Given the description of an element on the screen output the (x, y) to click on. 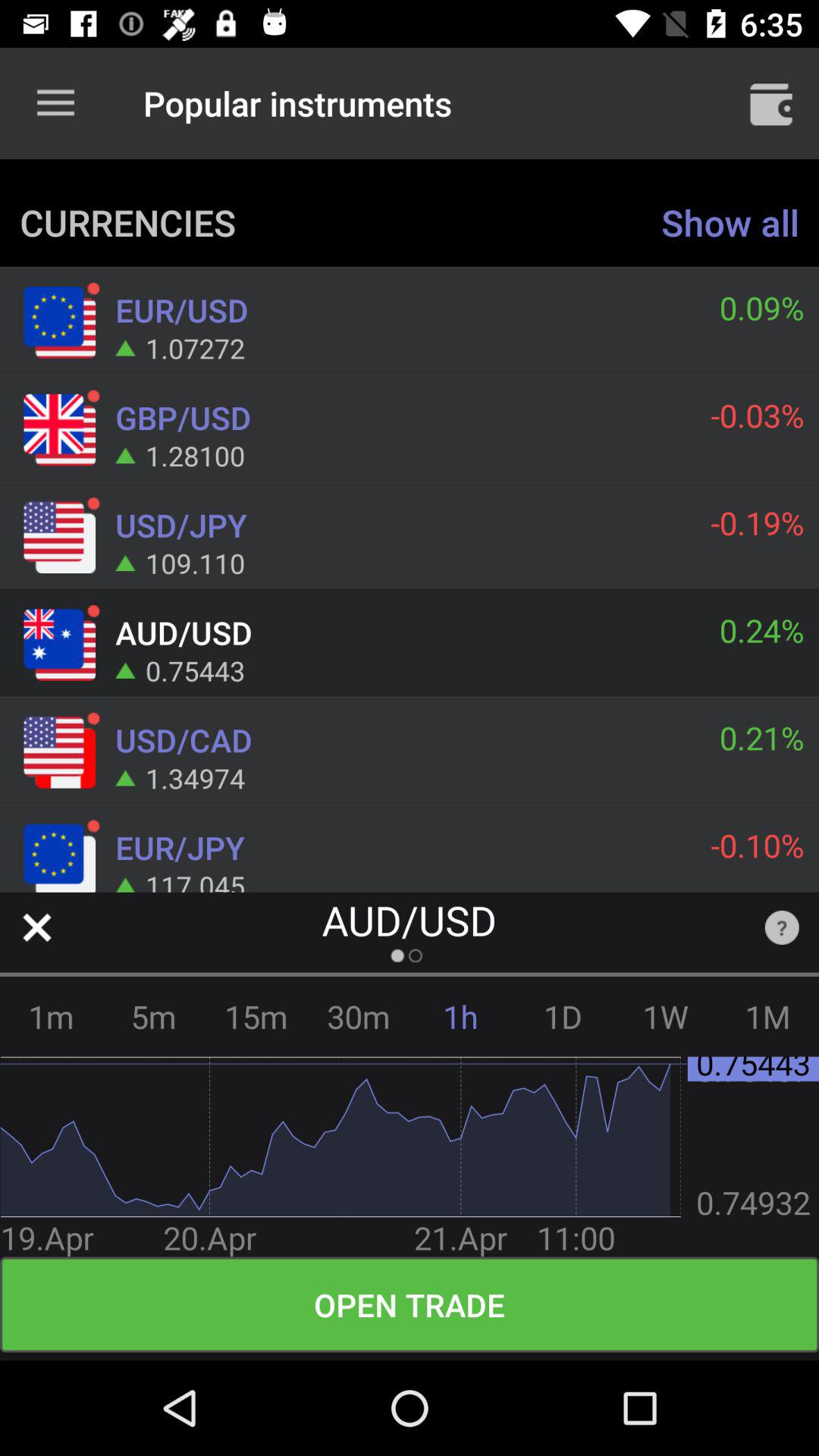
menu tab (771, 103)
